Given the description of an element on the screen output the (x, y) to click on. 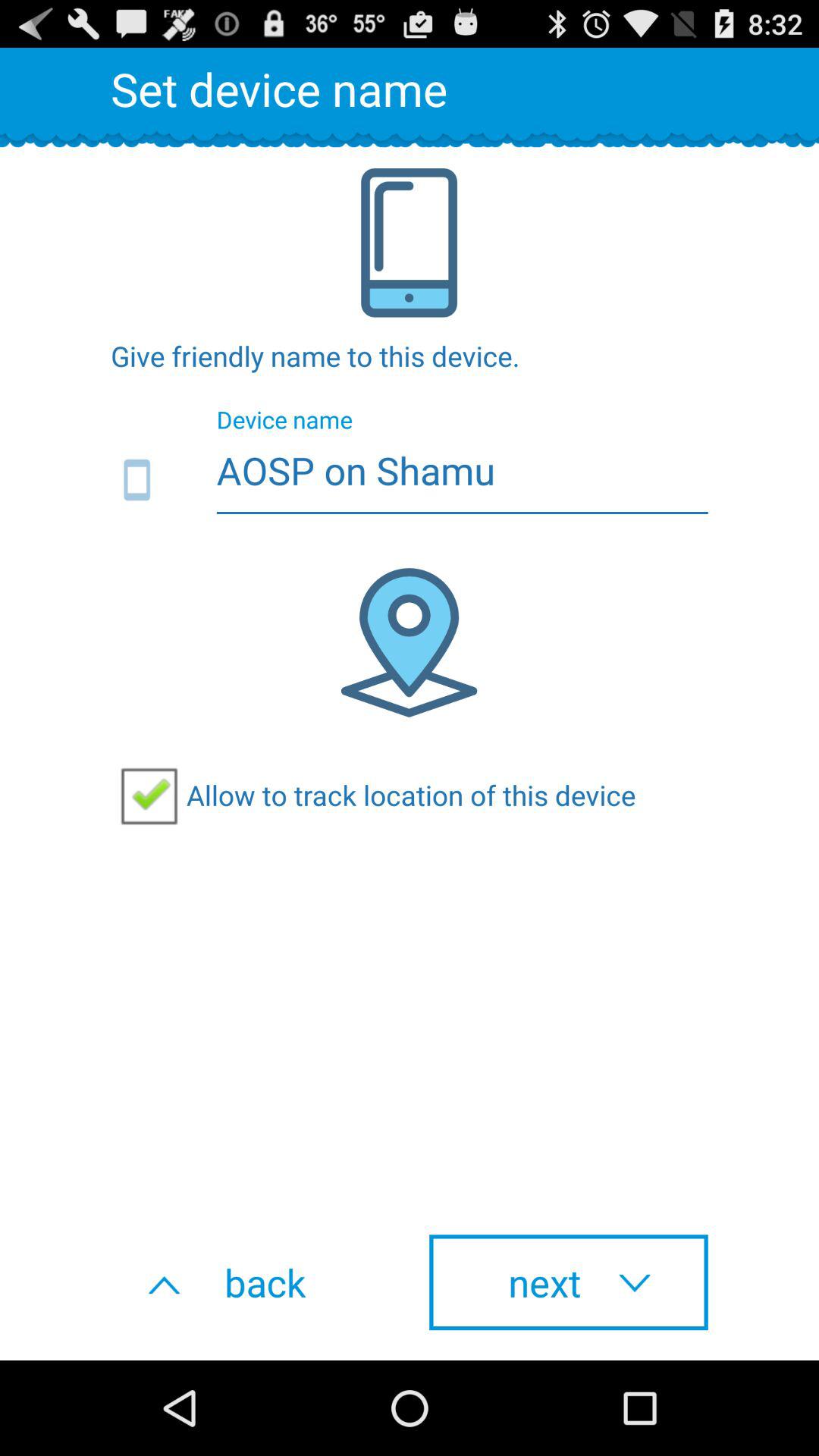
flip until back item (249, 1282)
